Given the description of an element on the screen output the (x, y) to click on. 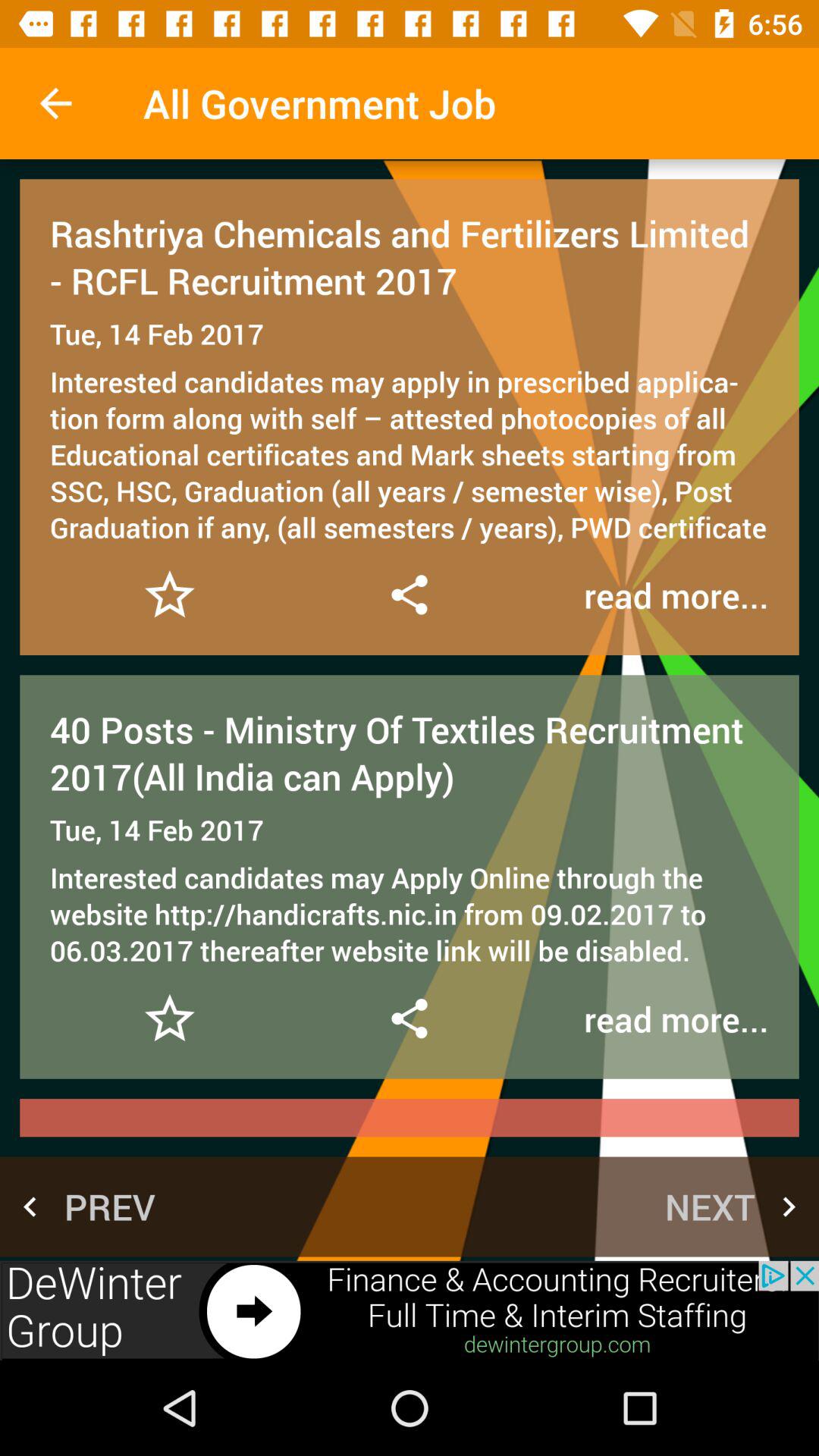
advertisement (409, 1310)
